Given the description of an element on the screen output the (x, y) to click on. 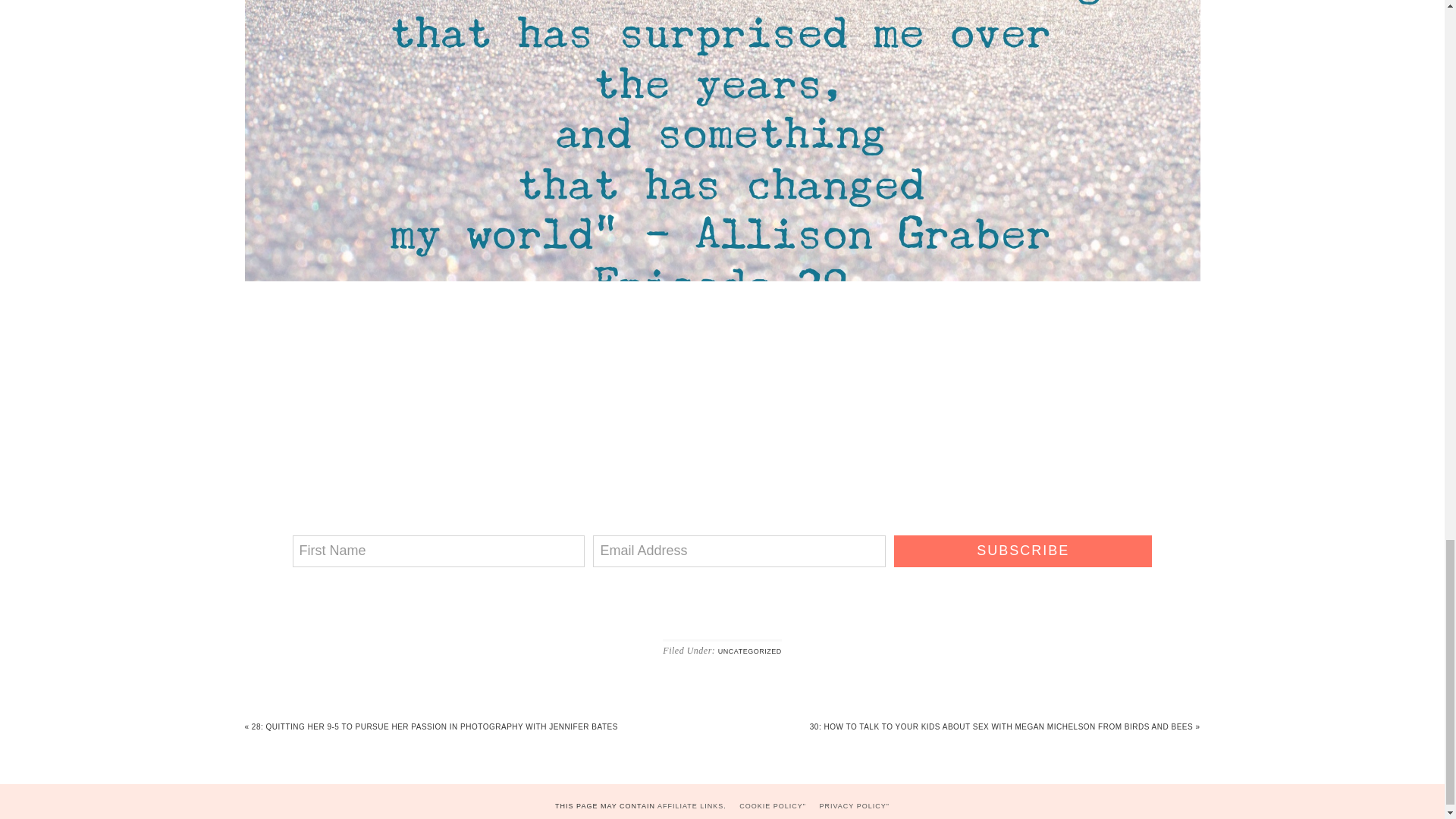
AFFILIATE LINKS (690, 805)
PRIVACY POLICY" (854, 805)
SUBSCRIBE (1022, 551)
UNCATEGORIZED (749, 651)
COOKIE POLICY" (772, 805)
